Given the description of an element on the screen output the (x, y) to click on. 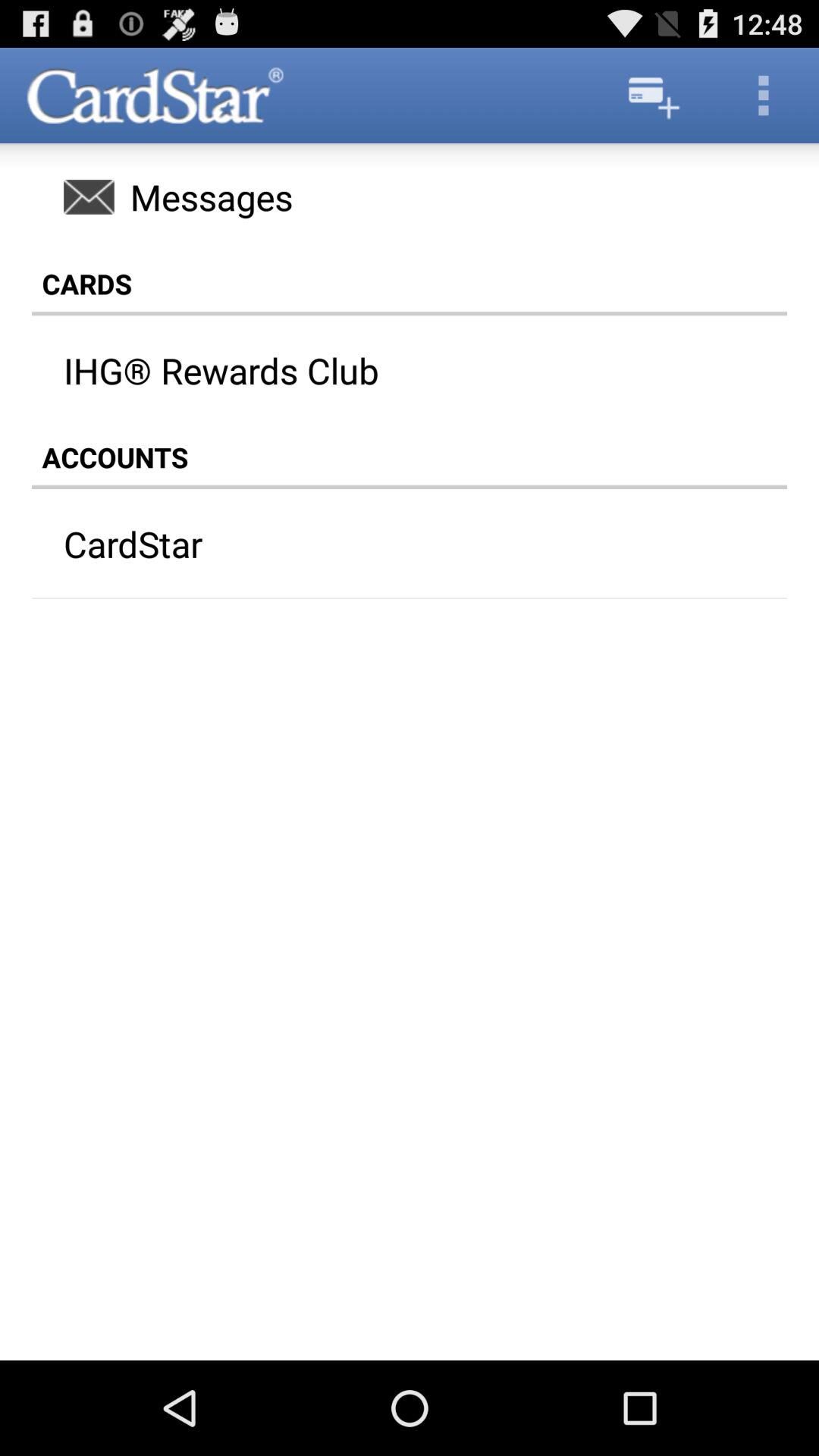
launch app above the accounts icon (425, 370)
